Given the description of an element on the screen output the (x, y) to click on. 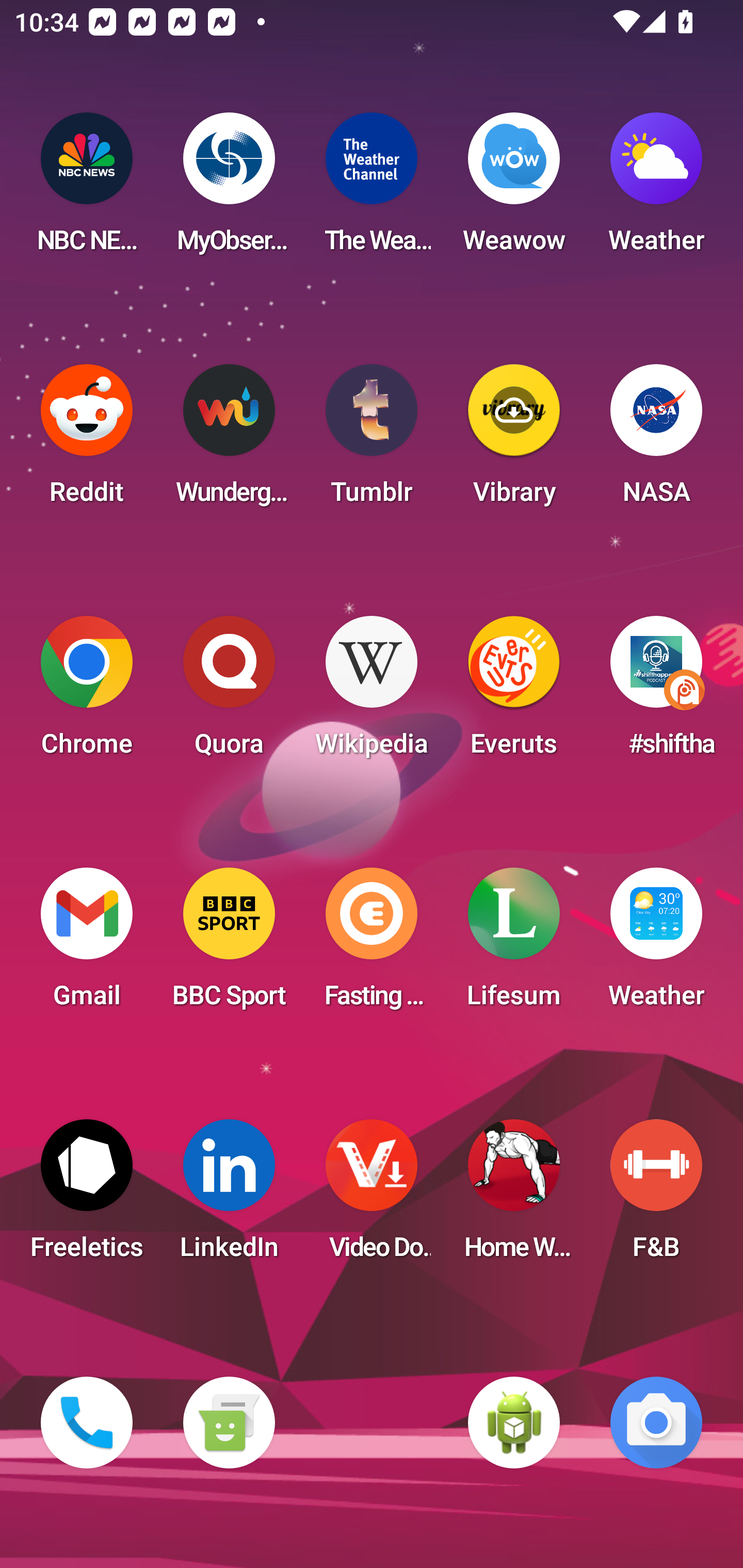
NBC NEWS (86, 188)
MyObservatory (228, 188)
The Weather Channel (371, 188)
Weawow (513, 188)
Weather (656, 188)
Reddit (86, 440)
Wunderground (228, 440)
Tumblr (371, 440)
Vibrary (513, 440)
NASA (656, 440)
Chrome (86, 692)
Quora (228, 692)
Wikipedia (371, 692)
Everuts (513, 692)
#shifthappens in the Digital Workplace Podcast (656, 692)
Gmail (86, 943)
BBC Sport (228, 943)
Fasting Coach (371, 943)
Lifesum (513, 943)
Weather (656, 943)
Freeletics (86, 1195)
LinkedIn (228, 1195)
Video Downloader & Ace Player (371, 1195)
Home Workout (513, 1195)
F&B (656, 1195)
Phone (86, 1422)
Messaging (228, 1422)
WebView Browser Tester (513, 1422)
Camera (656, 1422)
